Given the description of an element on the screen output the (x, y) to click on. 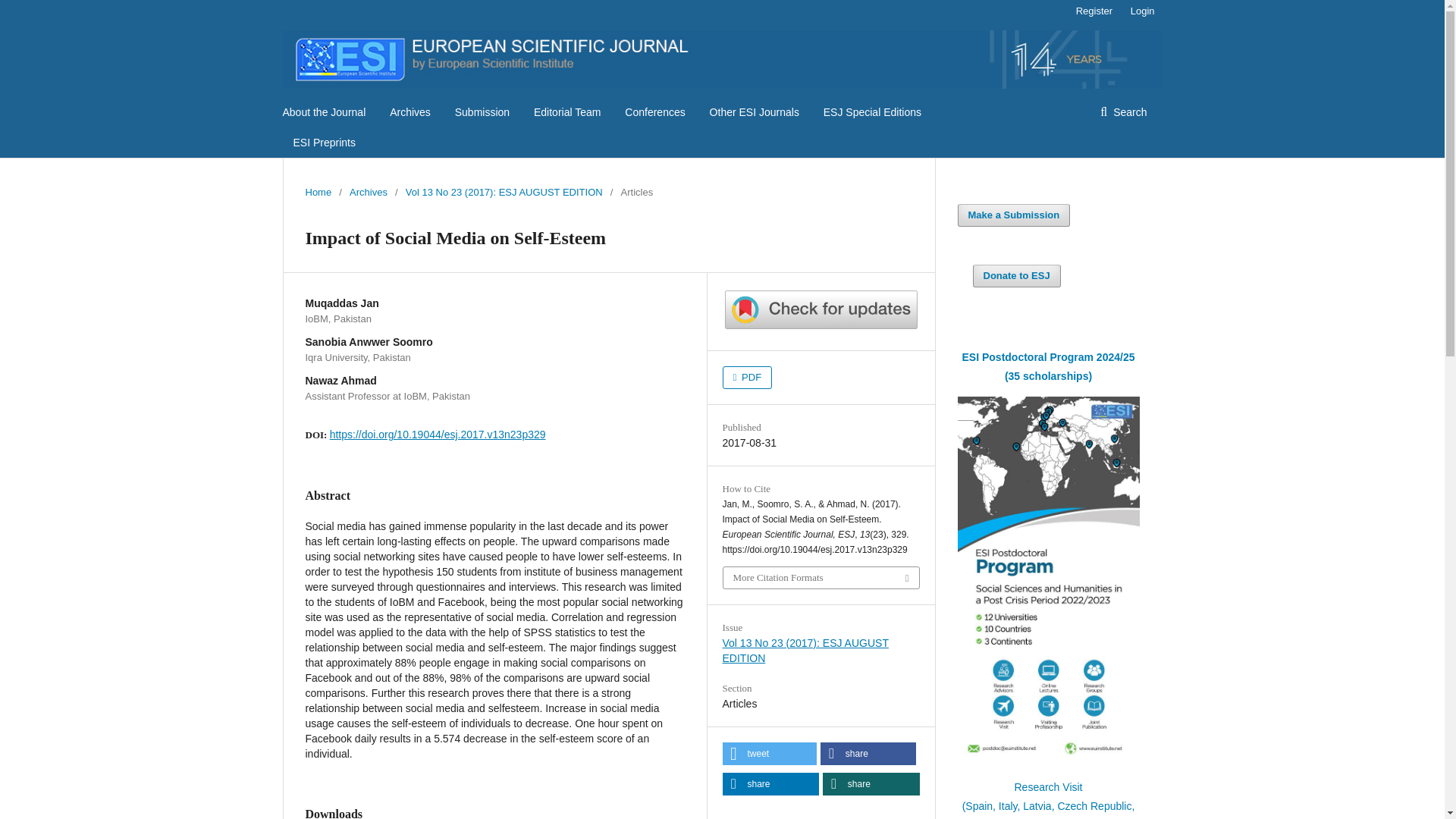
PDF (746, 377)
Share on Facebook (868, 753)
Submission (481, 112)
Editorial Team (566, 112)
Archives (410, 112)
ESJ Special Editions (872, 112)
Login (1138, 11)
Share on LinkedIn (770, 784)
Search (1122, 112)
Share on XING (871, 784)
Register (1093, 11)
Share on Twitter (769, 753)
Other ESI Journals (754, 112)
Conferences (654, 112)
Archives (368, 192)
